Given the description of an element on the screen output the (x, y) to click on. 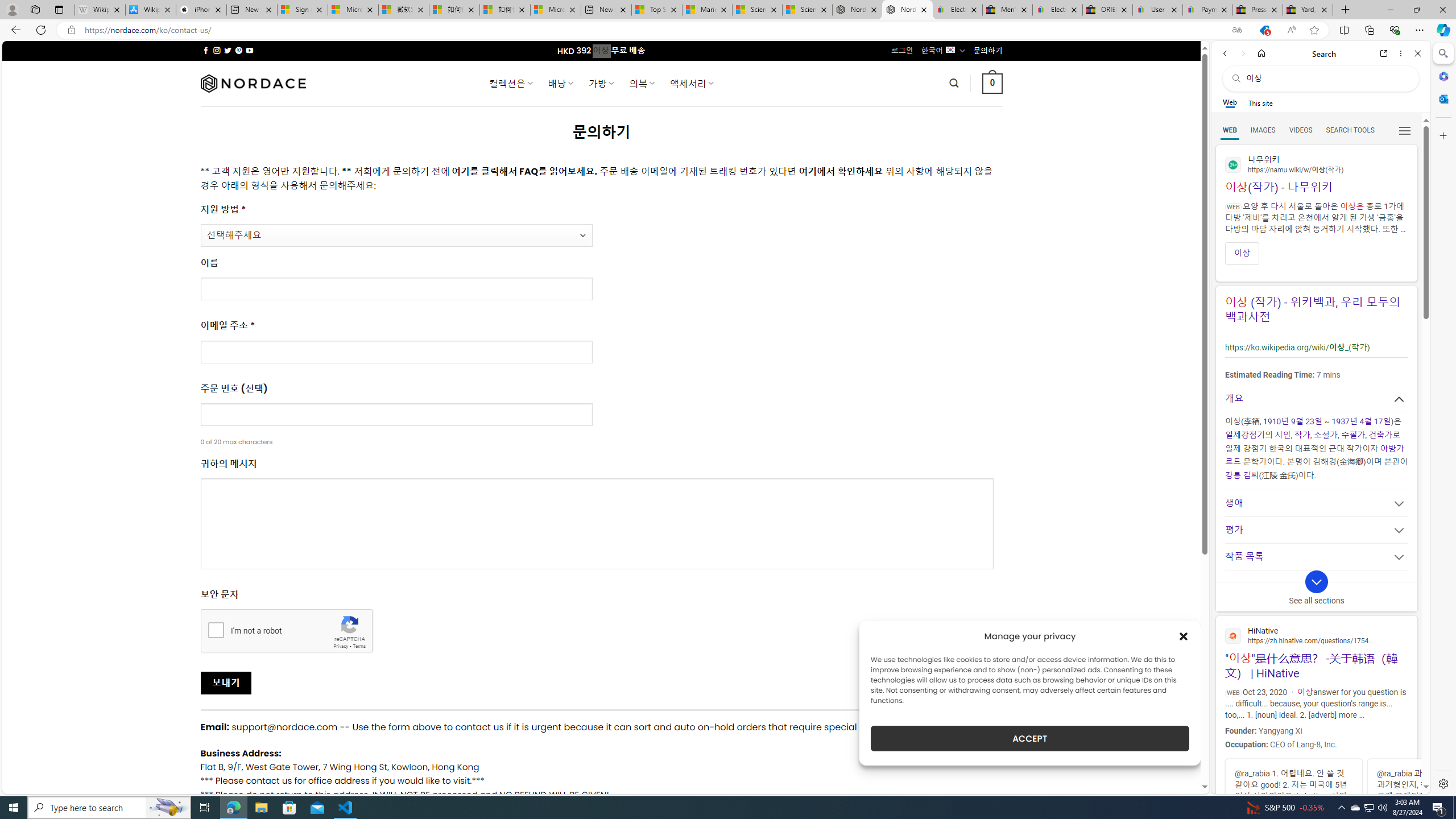
HiNative (1315, 634)
Sign in to your Microsoft account (302, 9)
Nordace - Summer Adventures 2024 (856, 9)
Estimated Reading Time: 7 mins (1315, 373)
Search Filter, IMAGES (1262, 129)
Search Filter, WEB (1230, 129)
